Given the description of an element on the screen output the (x, y) to click on. 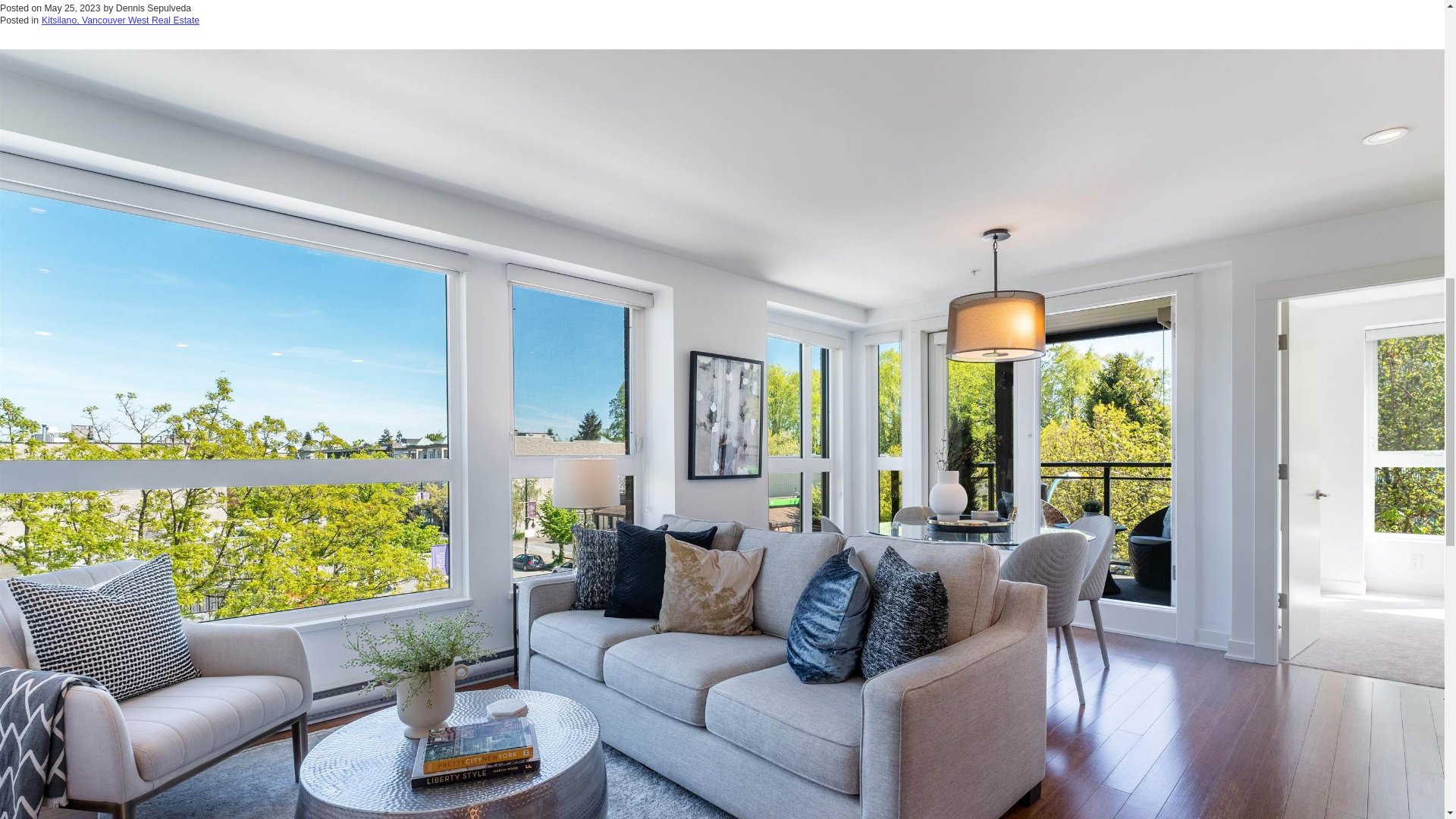
Kitsilano, Vancouver West Real Estate (120, 20)
